Given the description of an element on the screen output the (x, y) to click on. 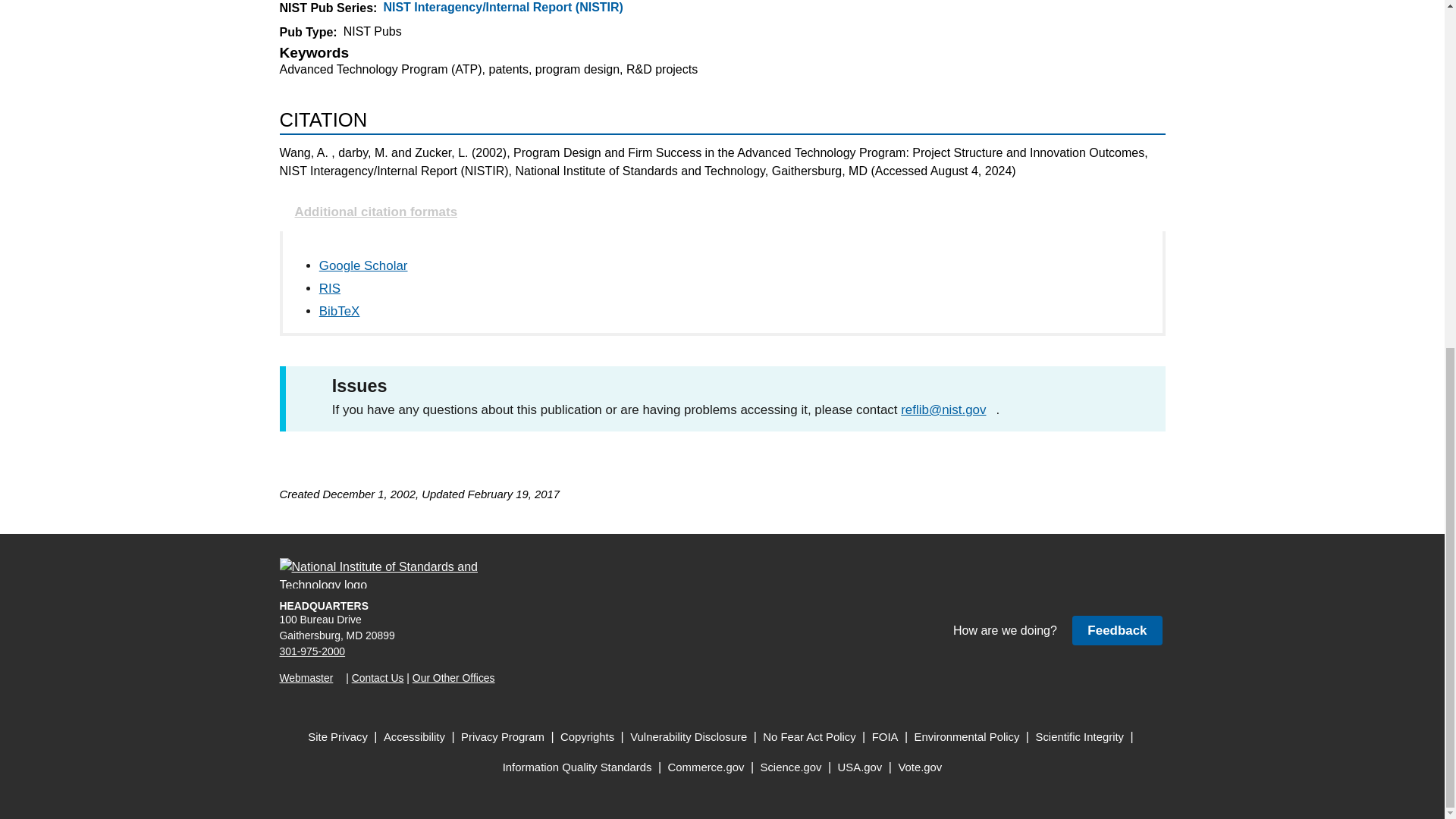
Provide feedback (1116, 630)
National Institute of Standards and Technology (387, 572)
